Given the description of an element on the screen output the (x, y) to click on. 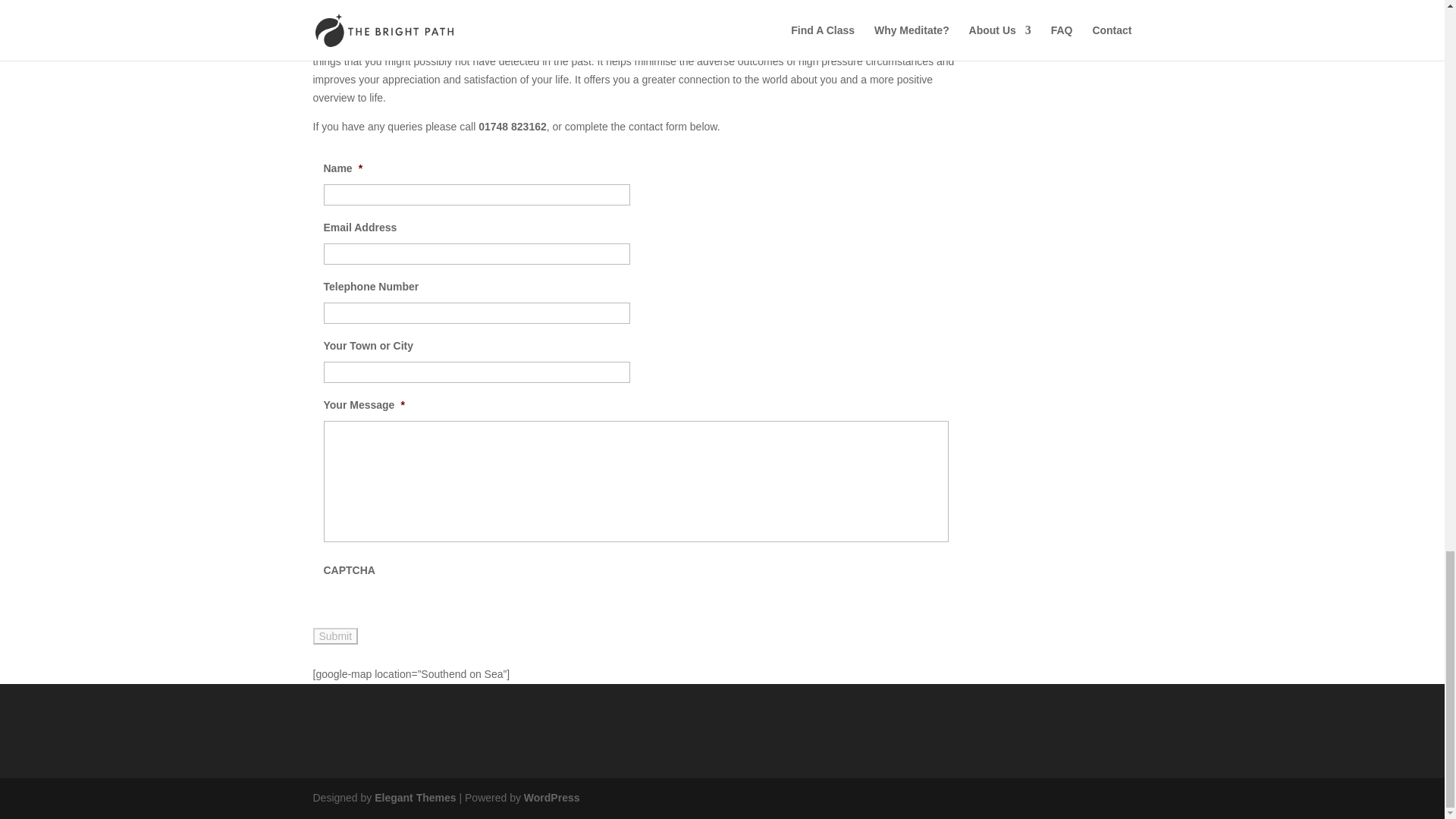
Submit (335, 636)
Elegant Themes (414, 797)
WordPress (551, 797)
Premium WordPress Themes (414, 797)
Submit (335, 636)
